Given the description of an element on the screen output the (x, y) to click on. 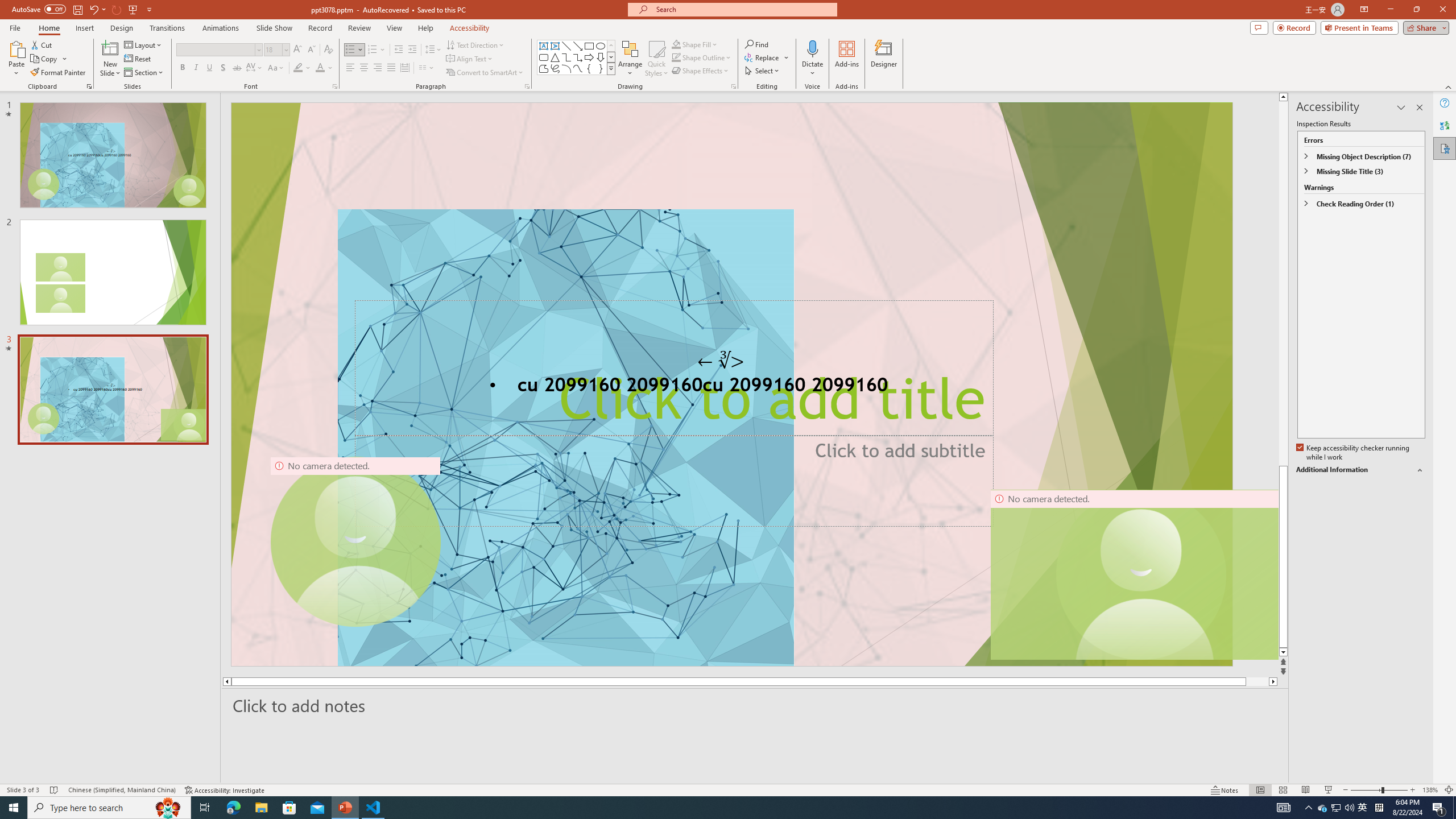
Subtitle TextBox (673, 480)
Zoom 138% (1430, 790)
